Given the description of an element on the screen output the (x, y) to click on. 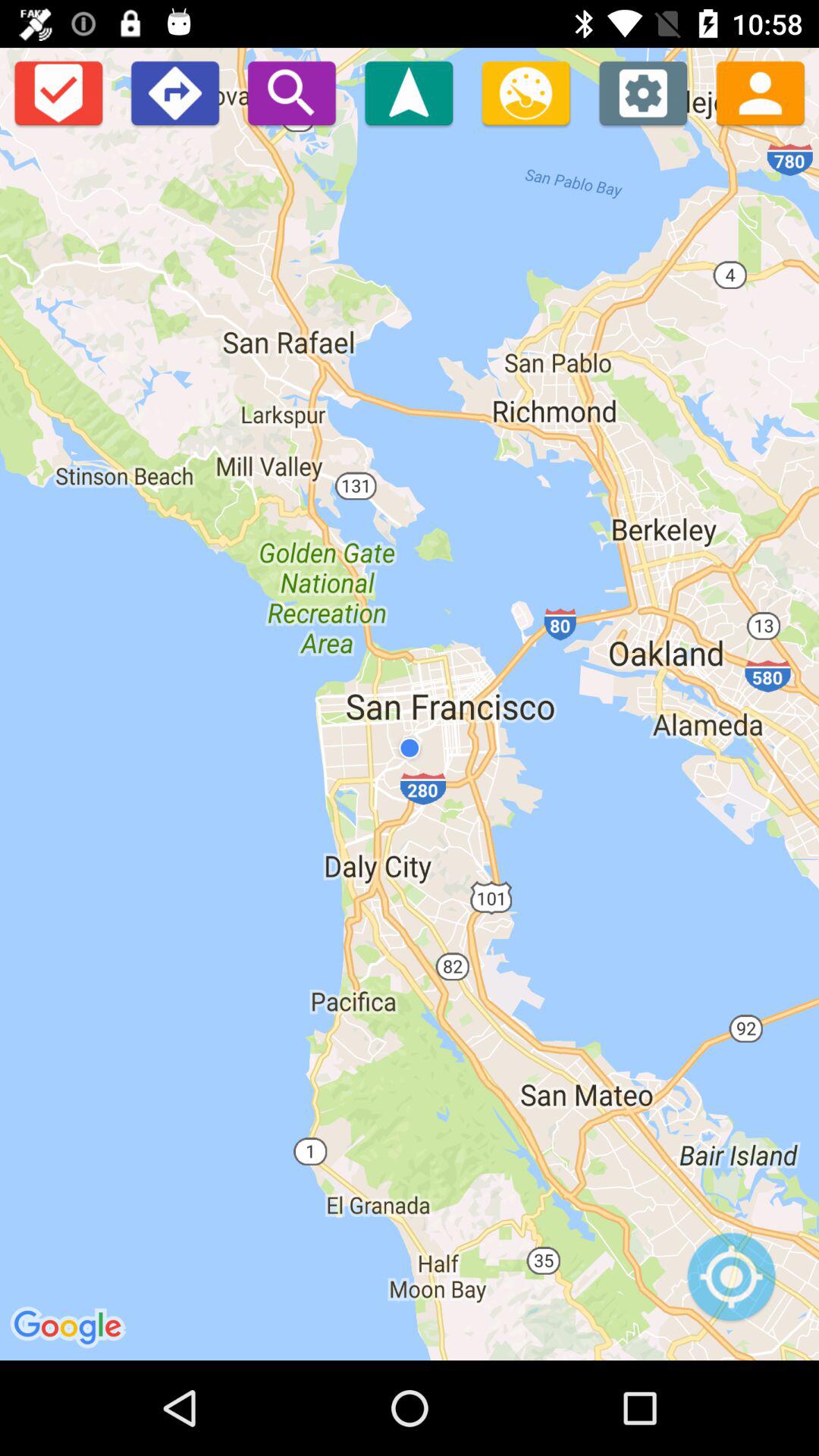
search the map more closely (291, 92)
